Given the description of an element on the screen output the (x, y) to click on. 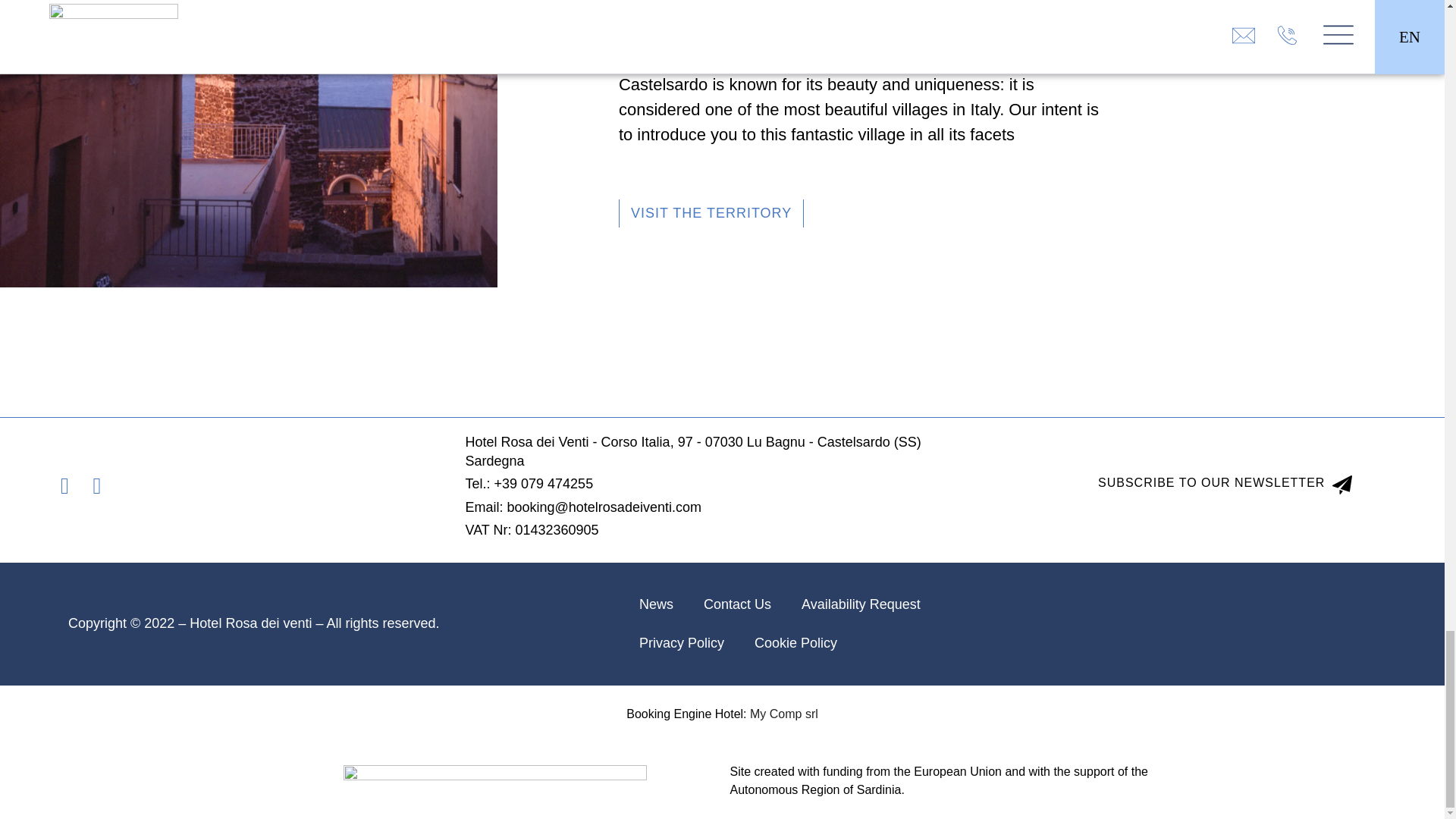
VISIT THE TERRITORY (710, 213)
SUBSCRIBE TO OUR NEWSLETTER (1224, 486)
News (656, 604)
Contact Us (737, 604)
Privacy Policy (681, 643)
Cookie Policy (795, 643)
